Given the description of an element on the screen output the (x, y) to click on. 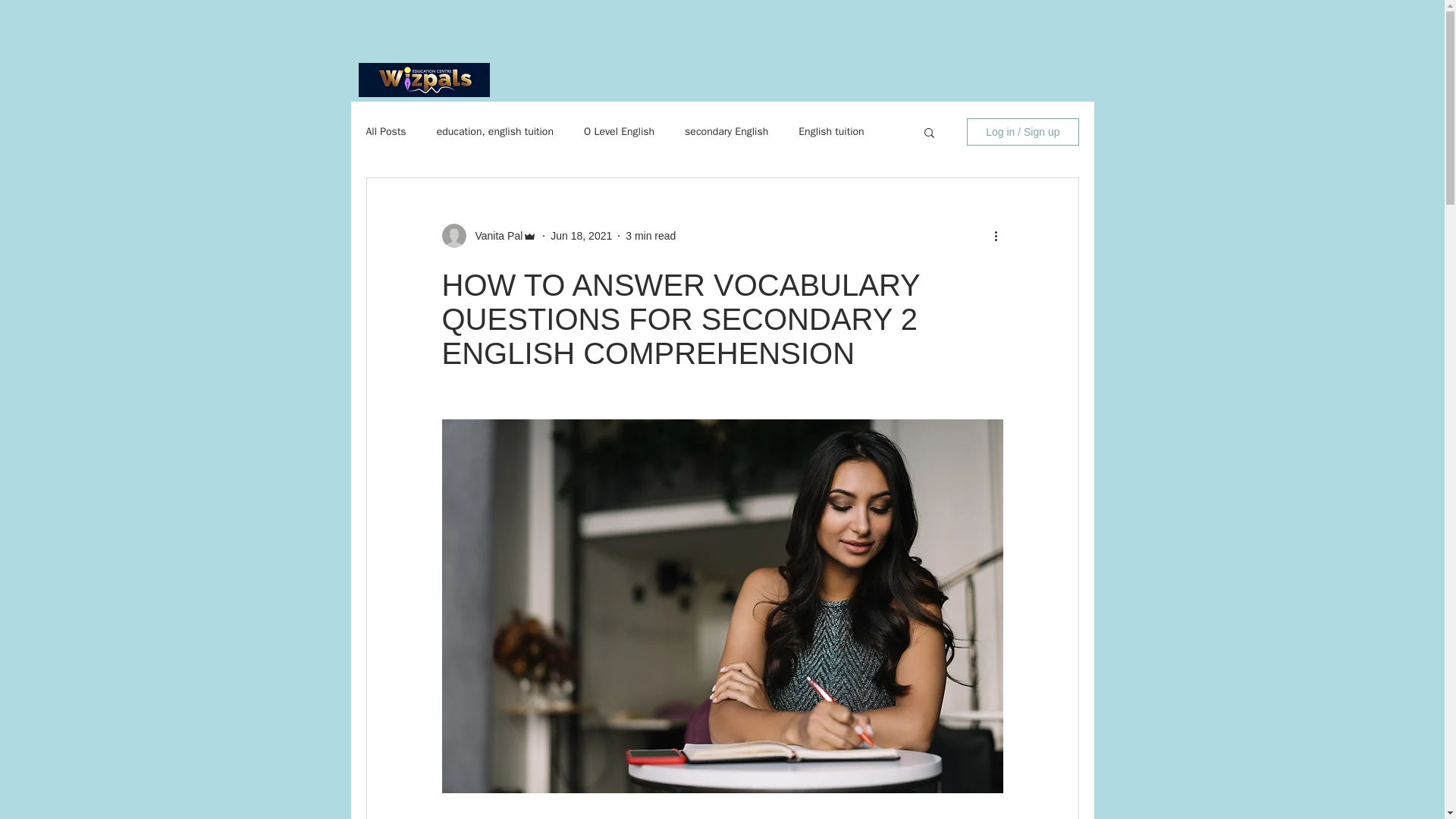
education, english tuition (494, 131)
All Posts (385, 131)
Jun 18, 2021 (580, 234)
O Level English (618, 131)
English tuition (830, 131)
Vanita Pal (493, 235)
3 min read (650, 234)
secondary English (726, 131)
